Given the description of an element on the screen output the (x, y) to click on. 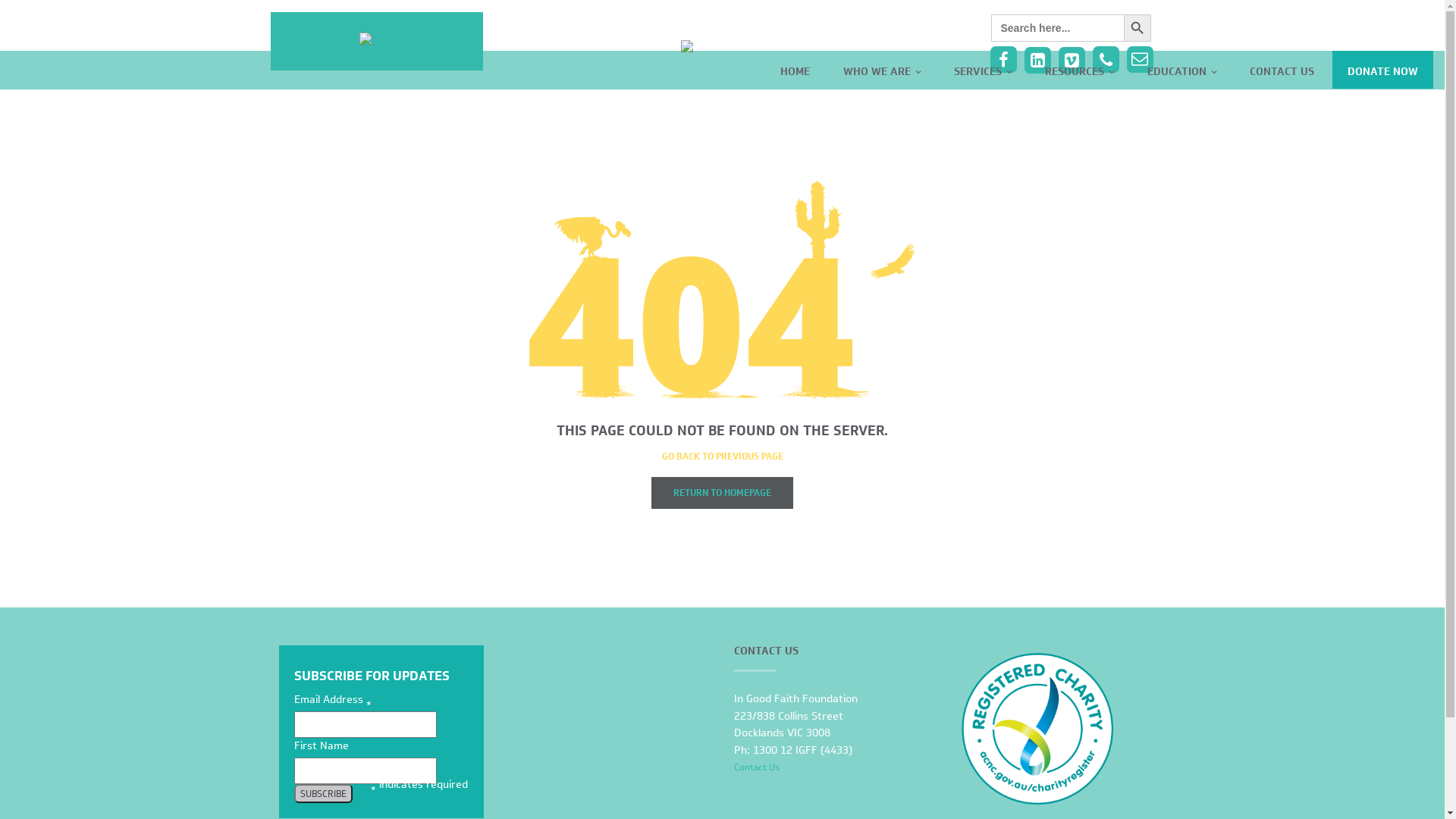
Search Button Element type: text (1137, 27)
RETURN TO HOMEPAGE Element type: text (722, 492)
GO BACK TO PREVIOUS PAGE Element type: text (721, 456)
DONATE NOW Element type: text (1382, 69)
WHO WE ARE Element type: text (881, 69)
Subscribe Element type: text (323, 793)
Contact Us Element type: text (756, 766)
CONTACT US Element type: text (1281, 69)
HOME Element type: text (794, 69)
RESOURCES Element type: text (1078, 69)
SERVICES Element type: text (982, 69)
EDUCATION Element type: text (1181, 69)
